Given the description of an element on the screen output the (x, y) to click on. 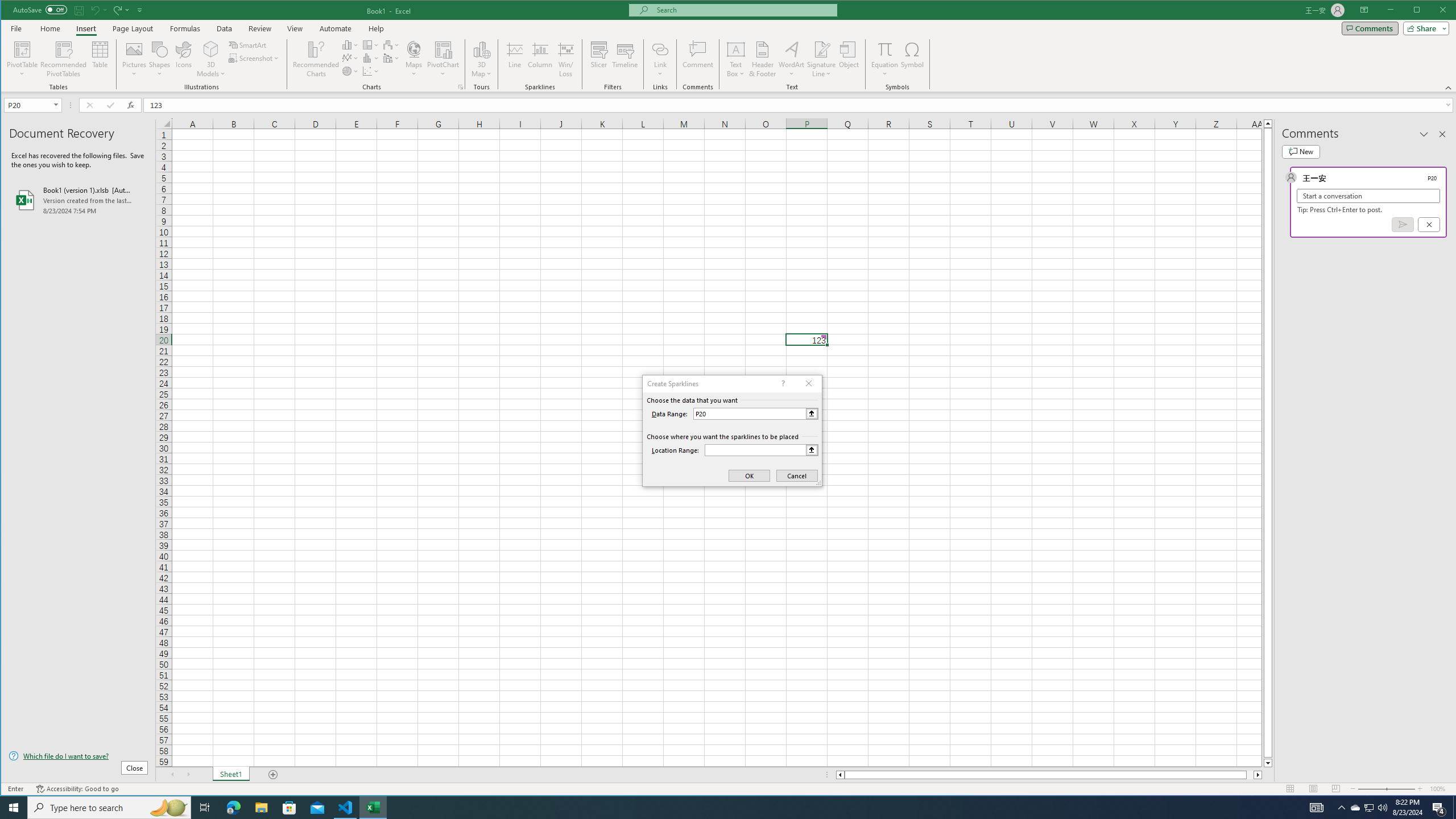
Icons (183, 59)
Start a conversation (1368, 195)
PivotTable (22, 59)
Equation (884, 48)
Text Box (735, 59)
